Given the description of an element on the screen output the (x, y) to click on. 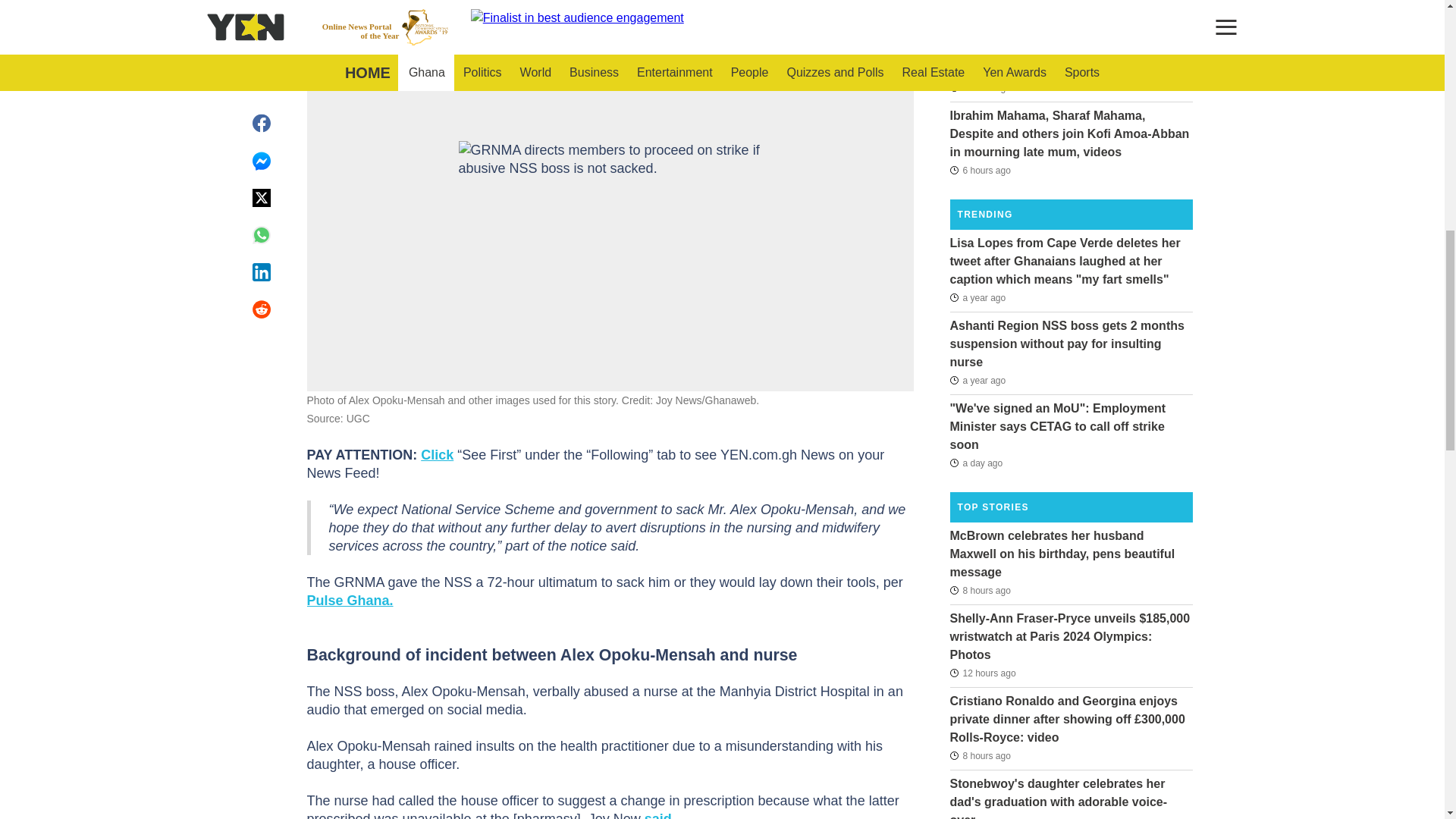
2024-08-03T22:30:03Z (979, 22)
2024-08-03T21:07:29Z (979, 169)
2024-08-03T18:42:47Z (979, 755)
2024-08-03T21:17:10Z (979, 87)
2024-08-03T14:51:37Z (981, 673)
Expand image (895, 68)
2023-01-04T15:40:22Z (977, 380)
2024-08-03T18:43:11Z (979, 589)
2023-07-11T15:25:21Z (977, 297)
2024-08-02T18:41:04Z (976, 462)
